Given the description of an element on the screen output the (x, y) to click on. 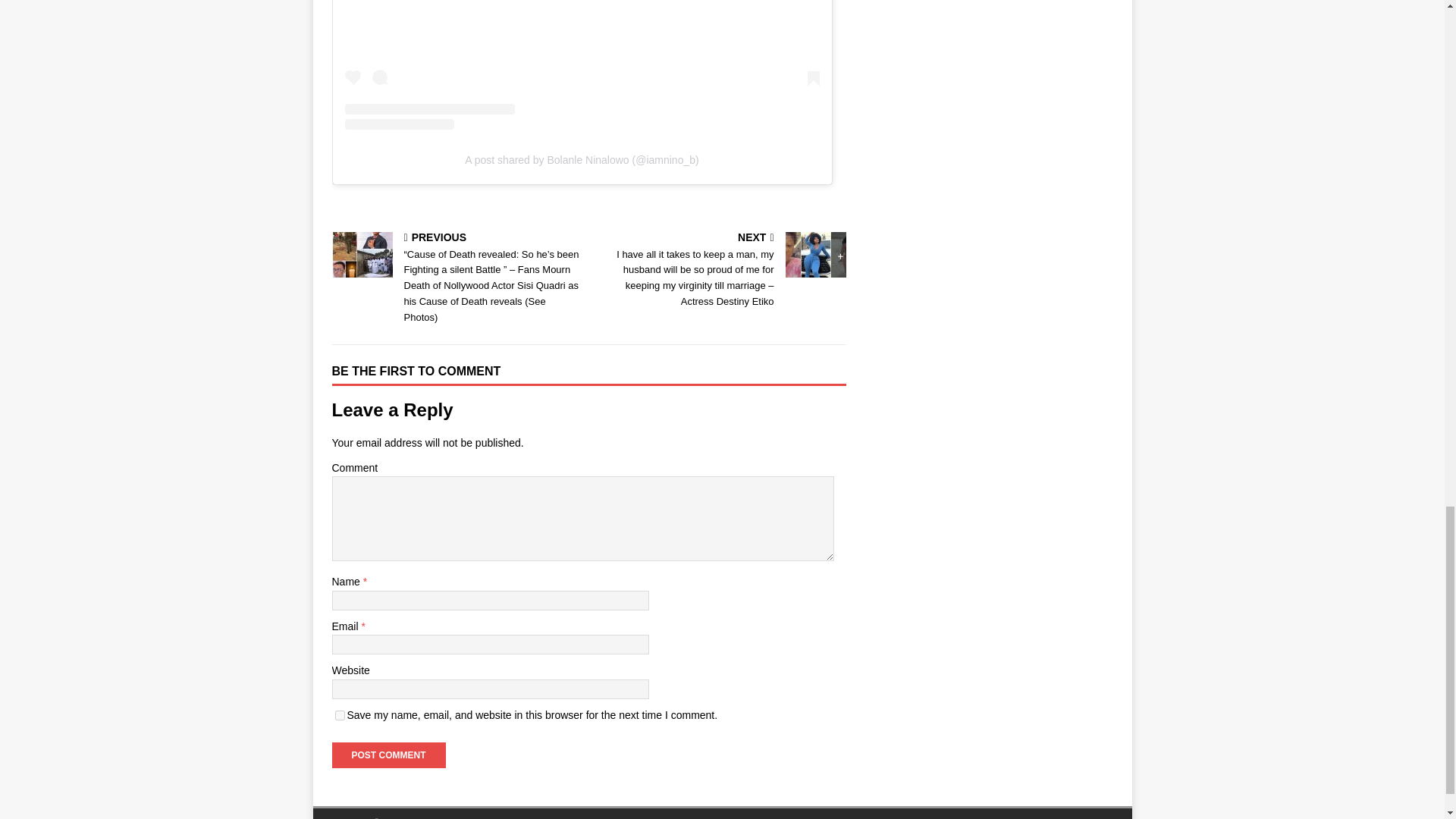
View this post on Instagram (580, 64)
yes (339, 715)
Post Comment (388, 755)
Post Comment (388, 755)
